Given the description of an element on the screen output the (x, y) to click on. 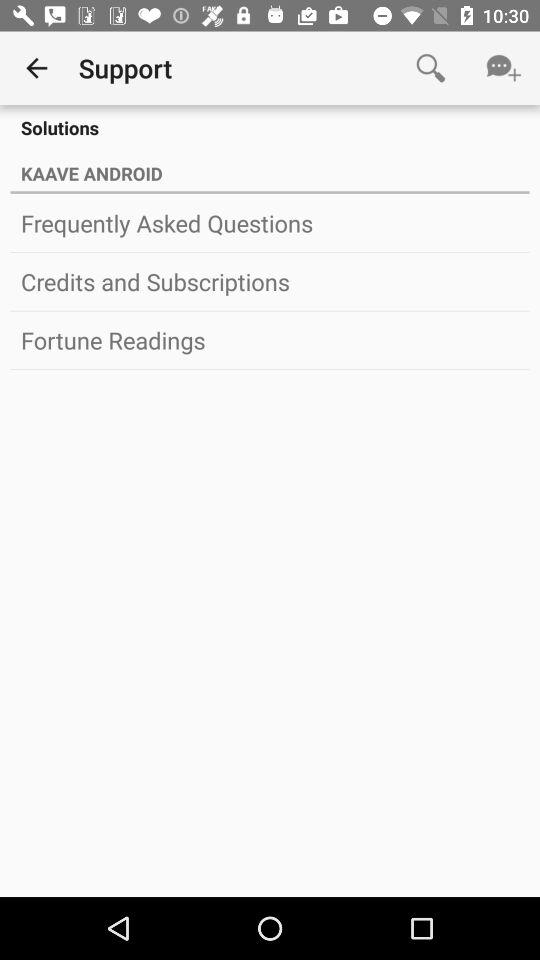
launch credits and subscriptions icon (269, 281)
